Given the description of an element on the screen output the (x, y) to click on. 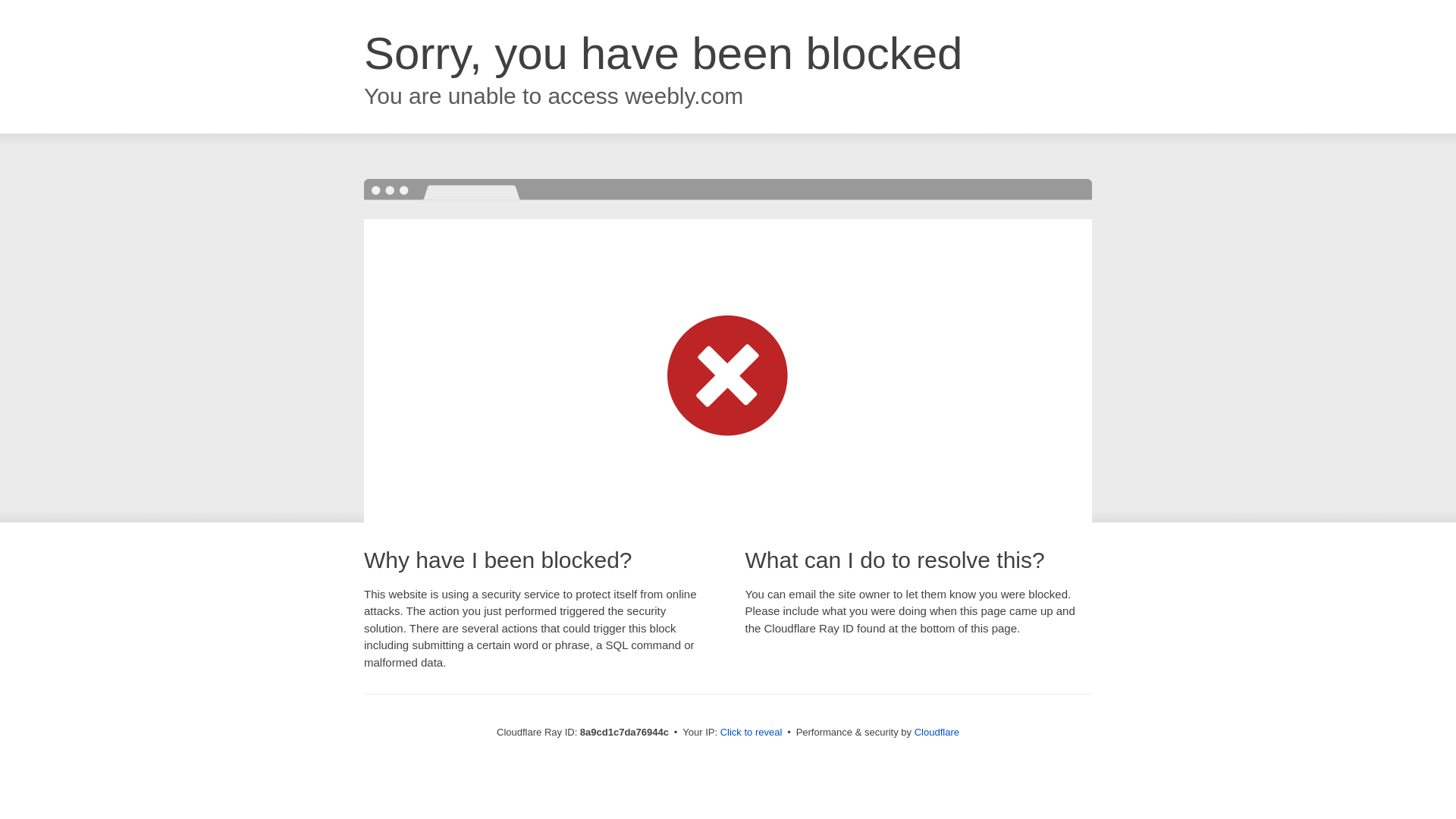
Click to reveal (751, 732)
Cloudflare (936, 731)
